Given the description of an element on the screen output the (x, y) to click on. 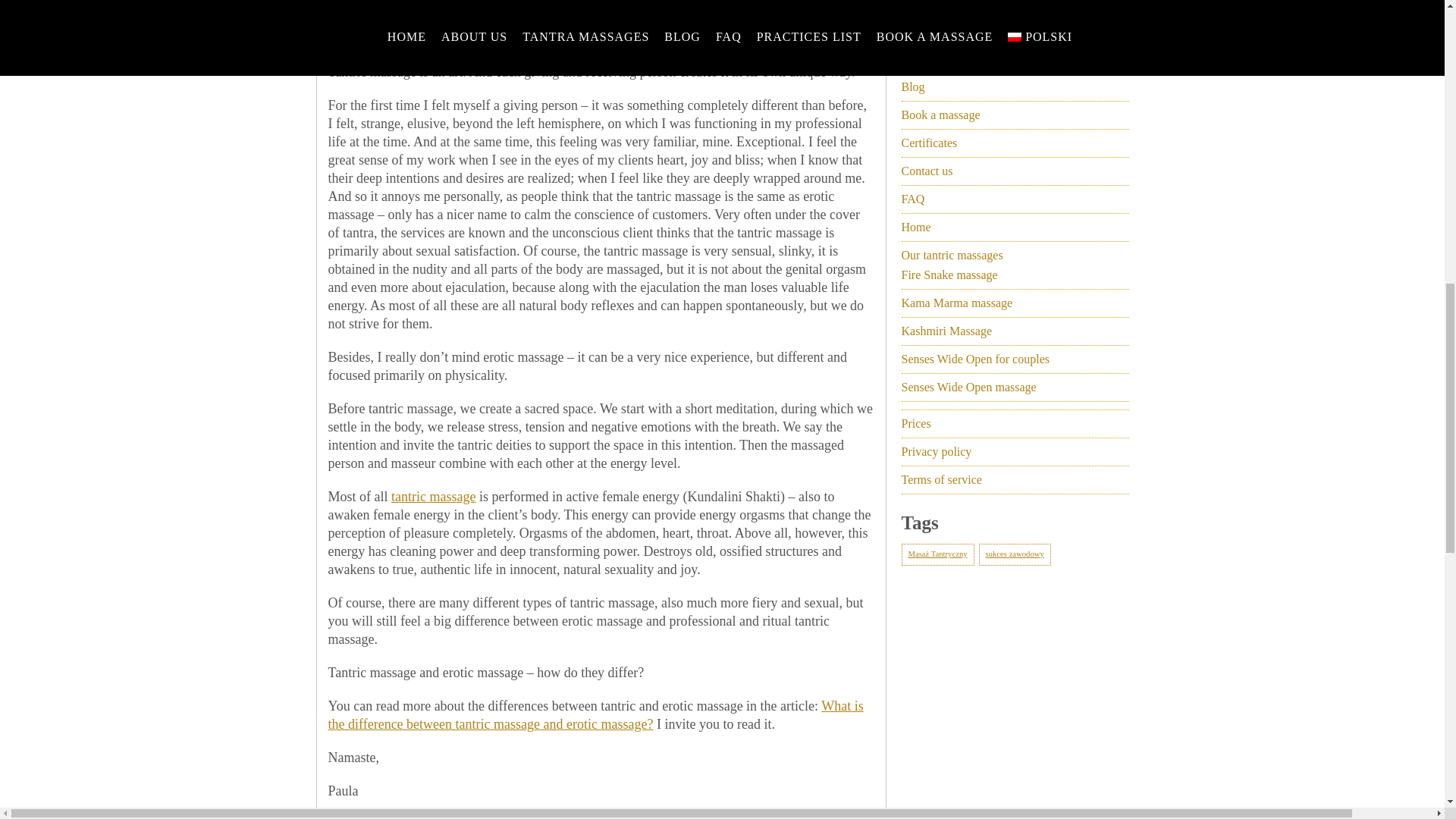
Our tantric massages (952, 254)
Certificates (928, 142)
Home (915, 226)
About us (922, 58)
Blog (912, 86)
Book a massage (940, 114)
tantric massage (433, 496)
Contact us (926, 170)
FAQ (912, 198)
